Given the description of an element on the screen output the (x, y) to click on. 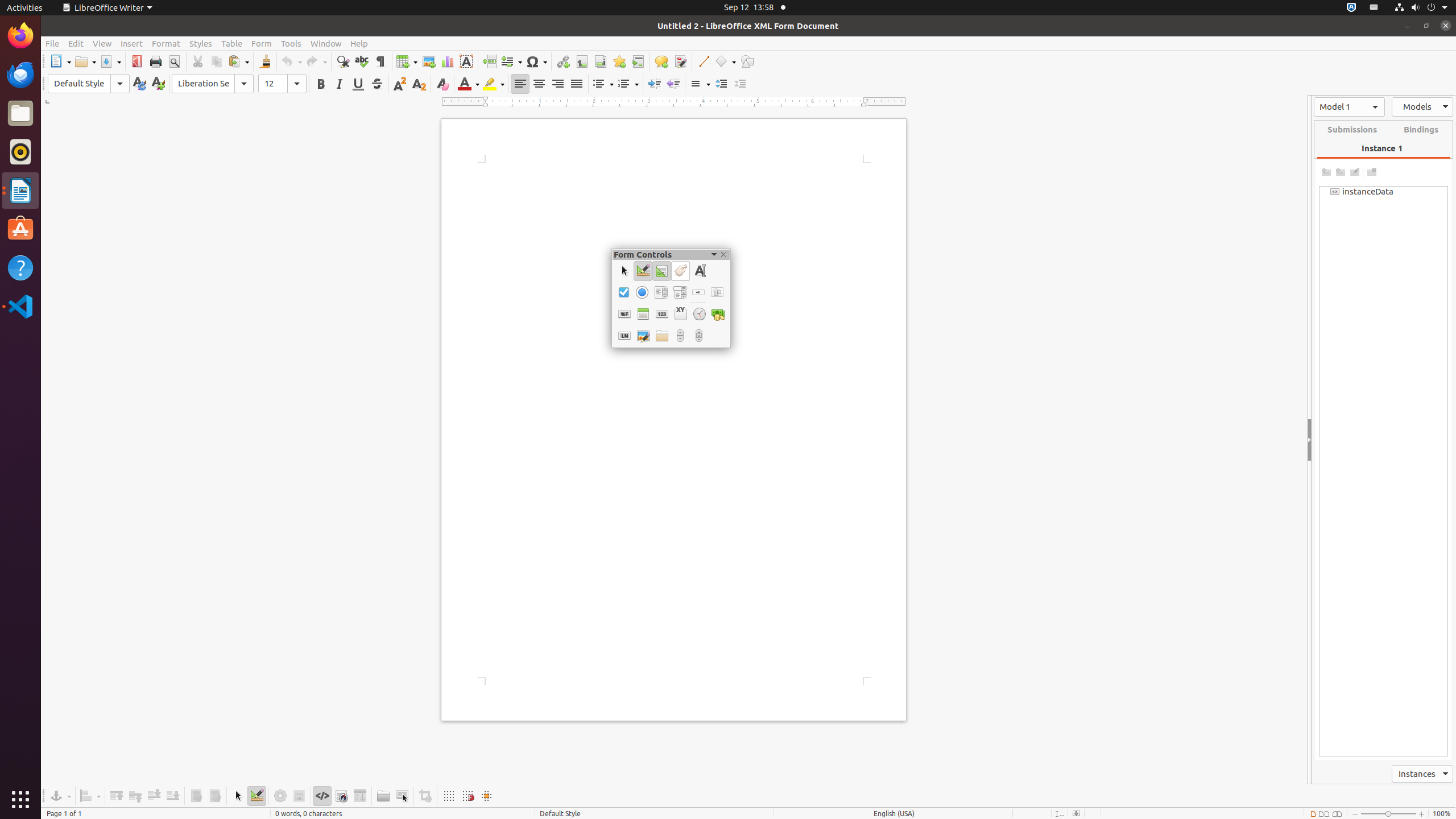
Numerical Field Element type: toggle-button (661, 314)
:1.21/StatusNotifierItem Element type: menu (1373, 7)
Date Field Element type: toggle-button (642, 314)
Currency Field Element type: toggle-button (717, 314)
Scrollbar Element type: toggle-button (698, 335)
